Given the description of an element on the screen output the (x, y) to click on. 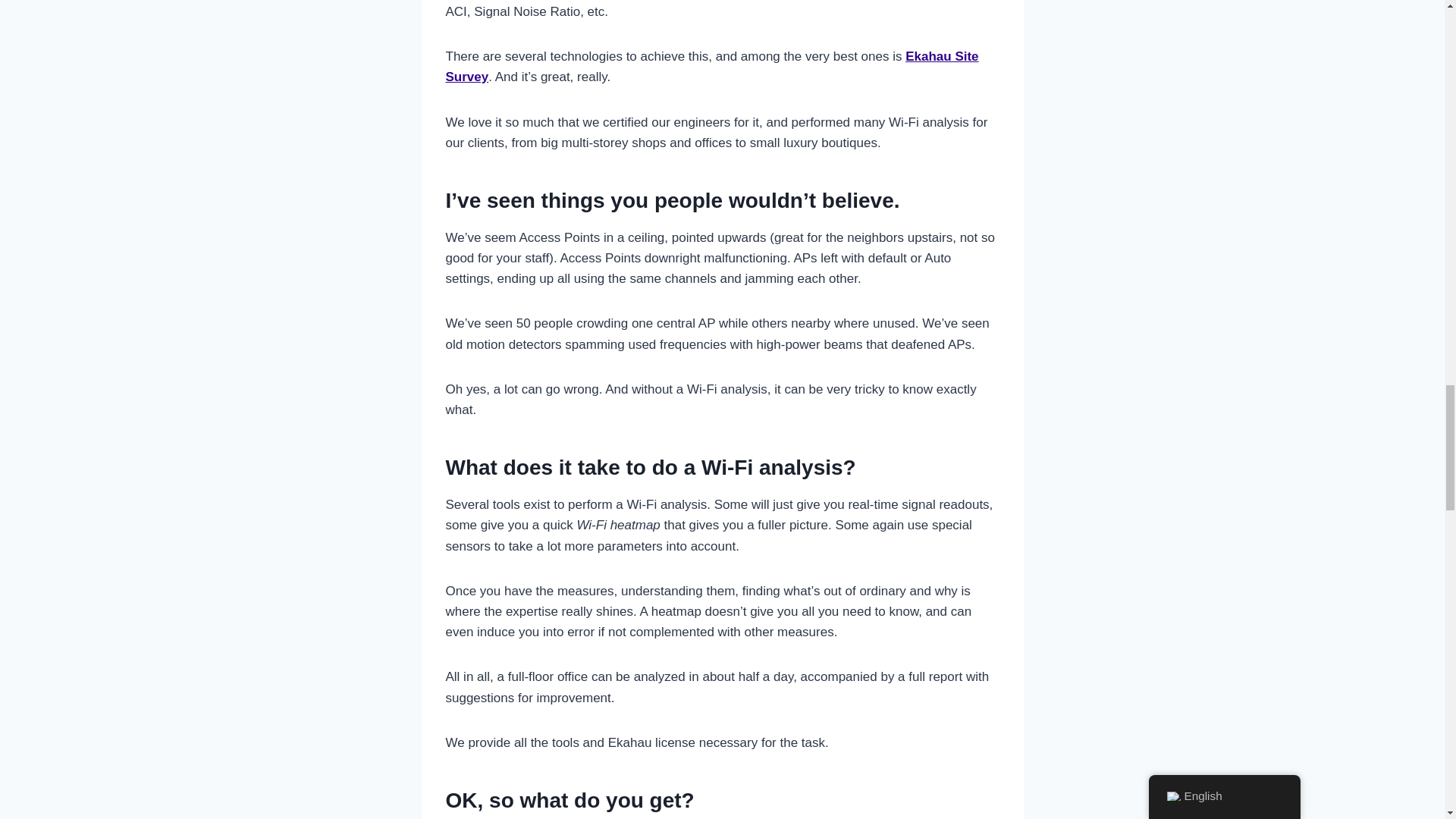
Ekahau Site Survey (711, 66)
